Given the description of an element on the screen output the (x, y) to click on. 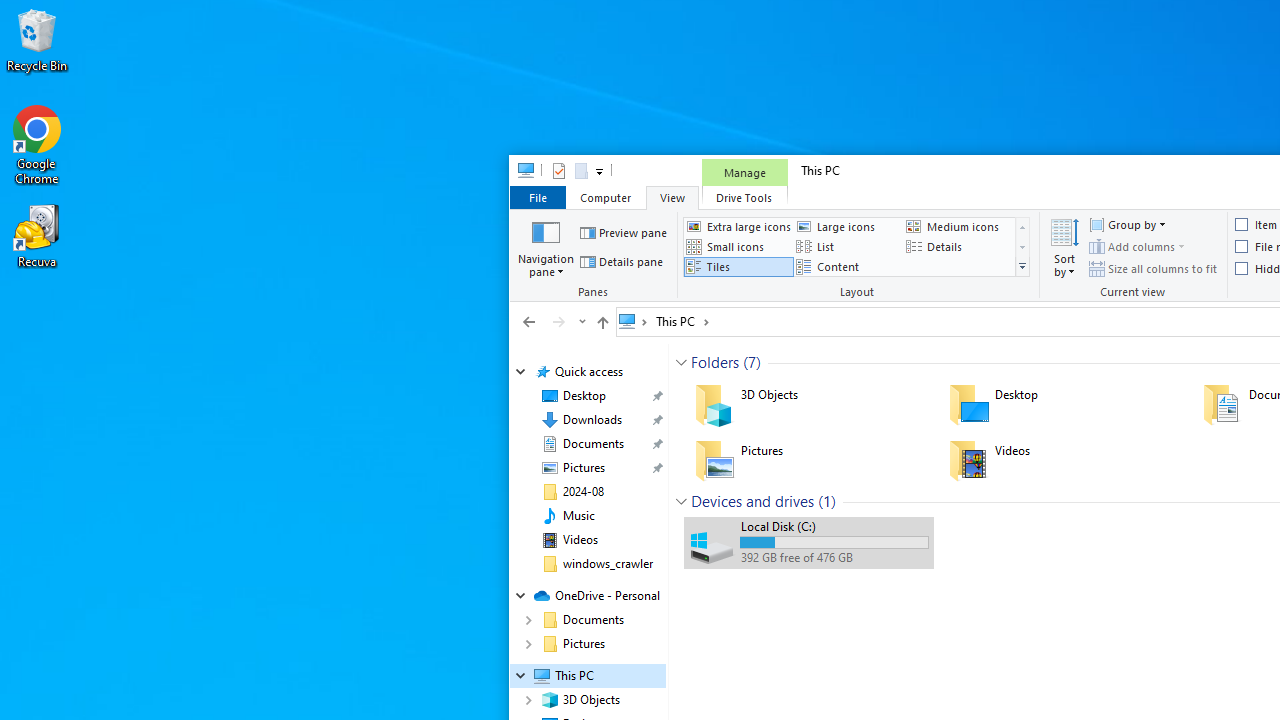
View (672, 196)
Group by (1126, 224)
Customize Quick Access Toolbar (598, 170)
Videos (580, 539)
Preview pane (623, 232)
Up band toolbar (602, 325)
Navigation buttons (552, 321)
Extra large icons (738, 226)
Layout (859, 255)
Large icons (848, 226)
Current view (1134, 255)
Space used (834, 542)
Content (848, 267)
Add columns (1136, 246)
Desktop (pinned) (584, 395)
